Given the description of an element on the screen output the (x, y) to click on. 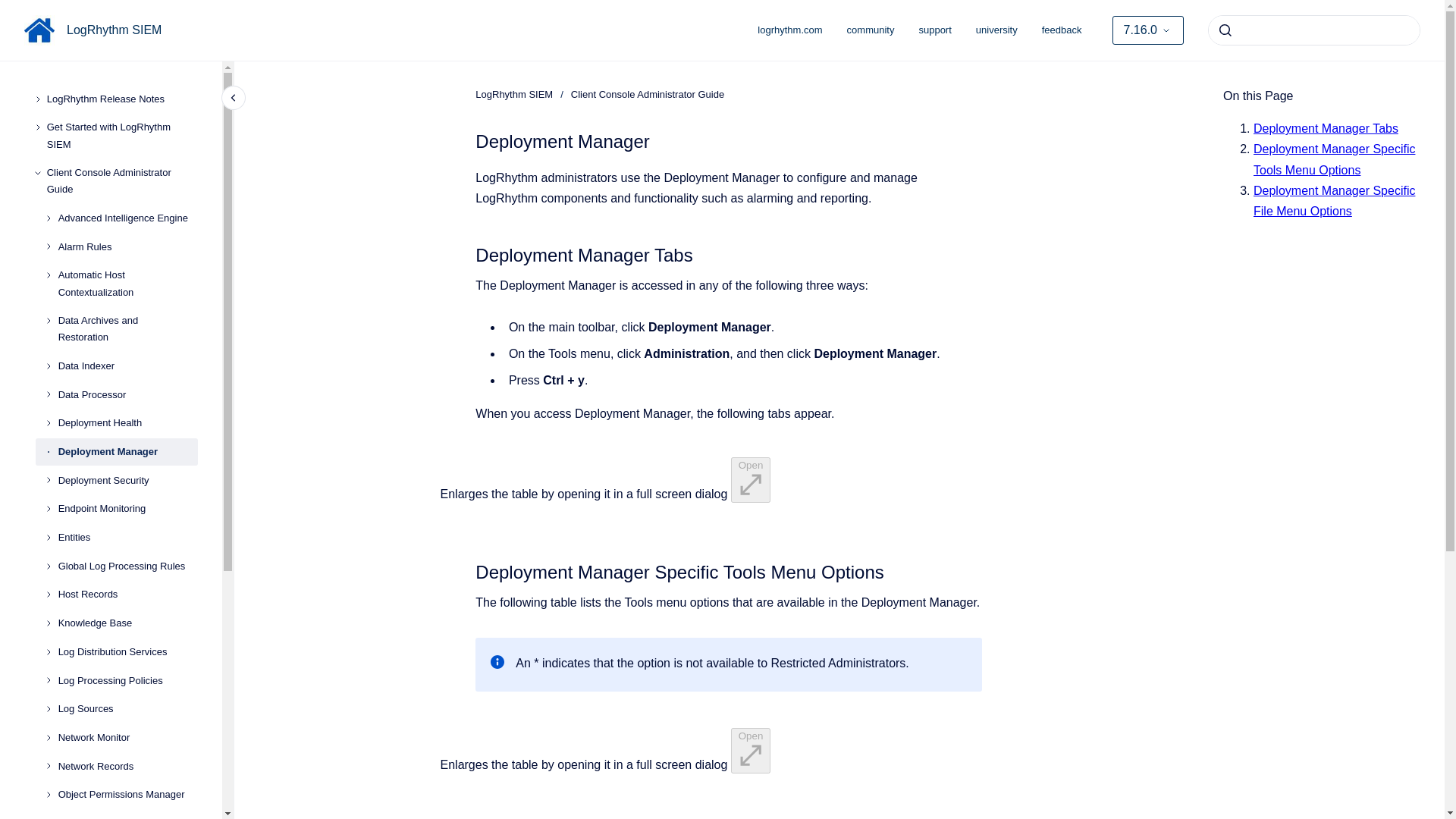
LogRhythm Release Notes (122, 99)
Client Console Administrator Guide (122, 180)
LogRhythm SIEM (113, 29)
Deployment Health (128, 423)
Go to homepage (39, 30)
Get Started with LogRhythm SIEM (122, 136)
Global Log Processing Rules (128, 565)
Entities (128, 537)
Alarm Rules (128, 247)
feedback (1061, 29)
community (870, 29)
Data Archives and Restoration (128, 329)
Automatic Host Contextualization (128, 284)
Data Indexer (128, 366)
